Given the description of an element on the screen output the (x, y) to click on. 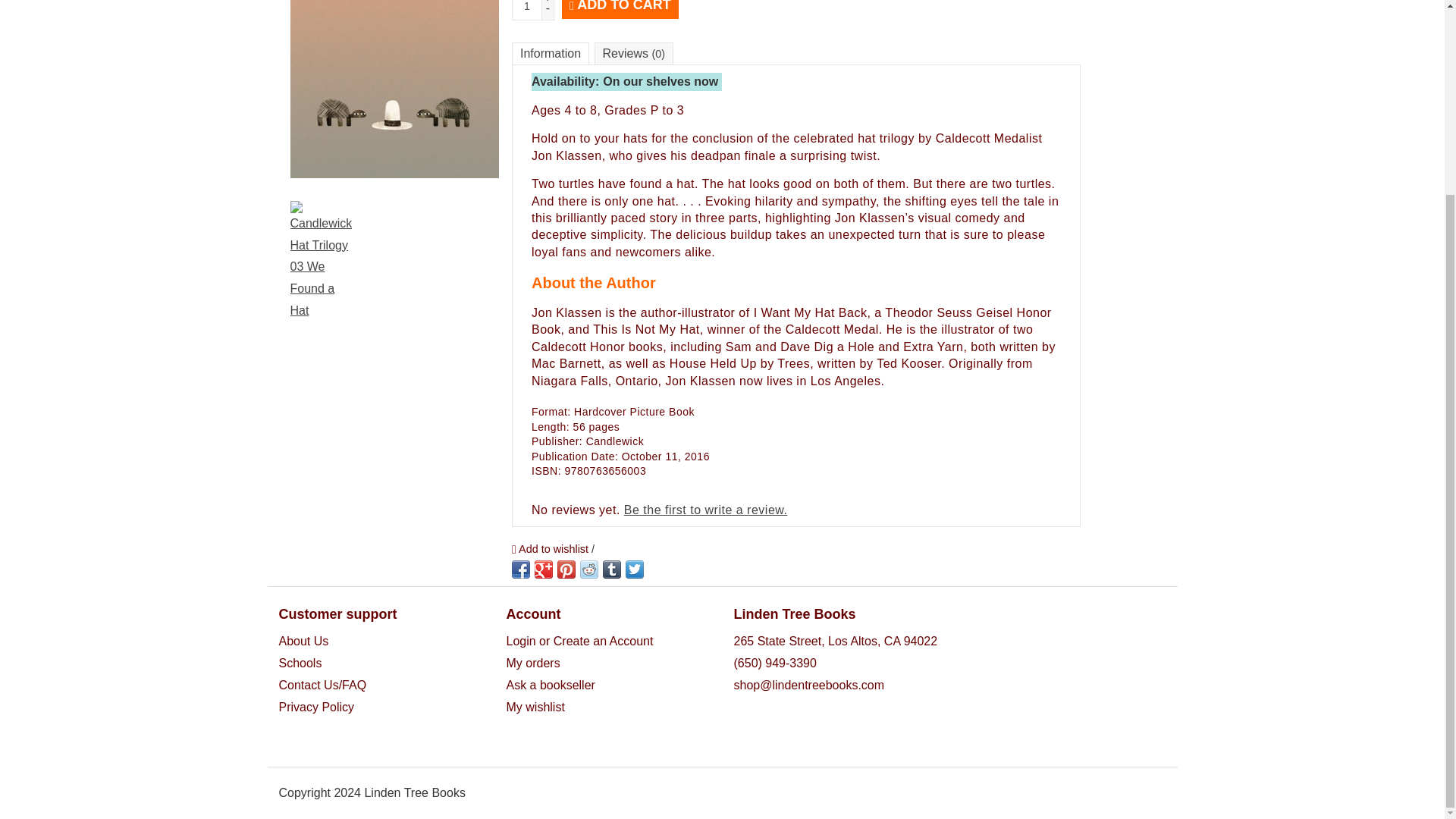
About Us (304, 640)
Pin It (566, 569)
Add to wishlist (551, 548)
Information (550, 53)
- (547, 8)
Add to cart (620, 9)
Be the first to write a review. (705, 509)
ADD TO CART (620, 9)
Add to wishlist (551, 548)
Share on Twitter (634, 569)
